Given the description of an element on the screen output the (x, y) to click on. 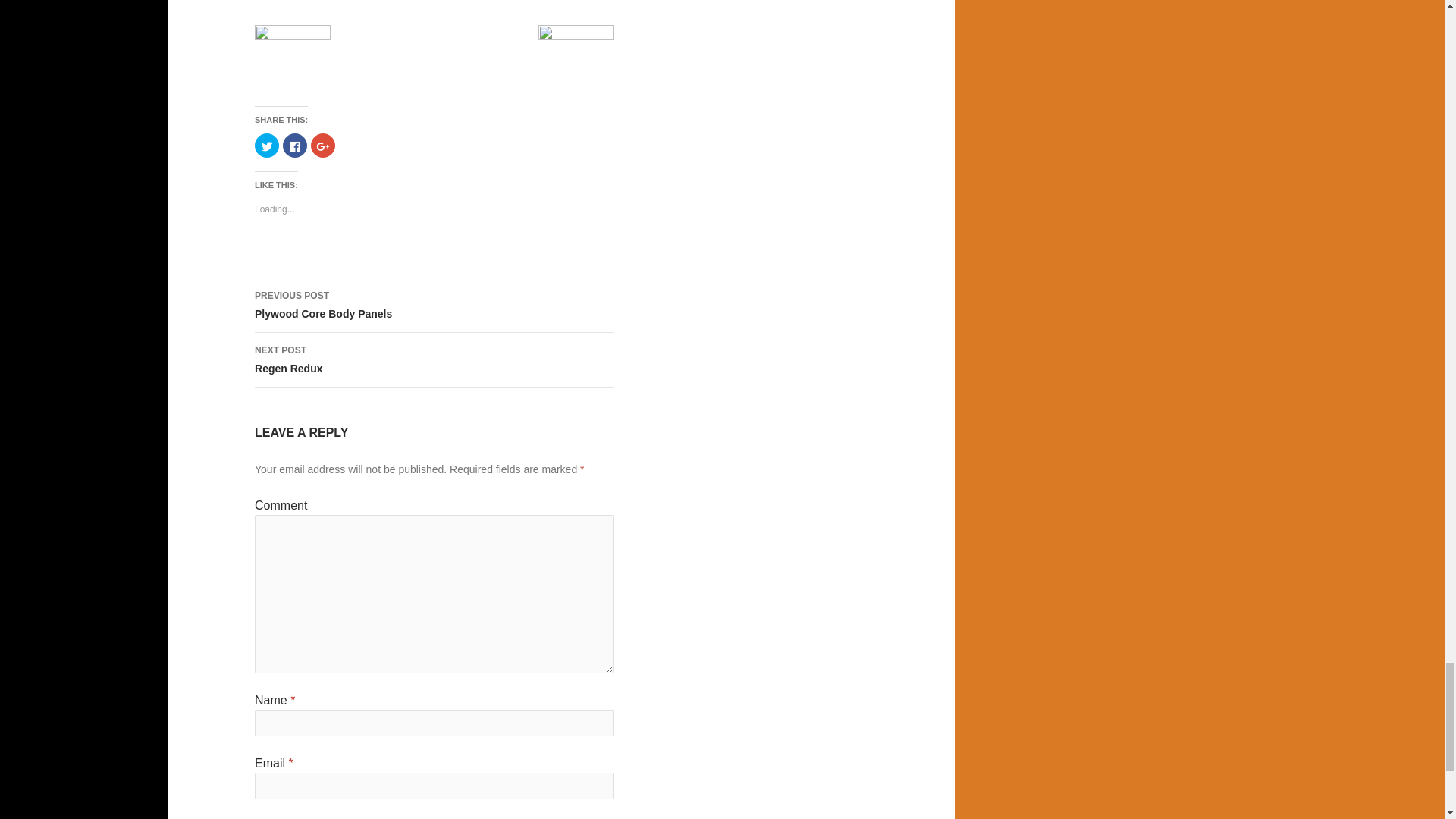
Click to share on Facebook (434, 305)
Click to share on Twitter (434, 359)
